Given the description of an element on the screen output the (x, y) to click on. 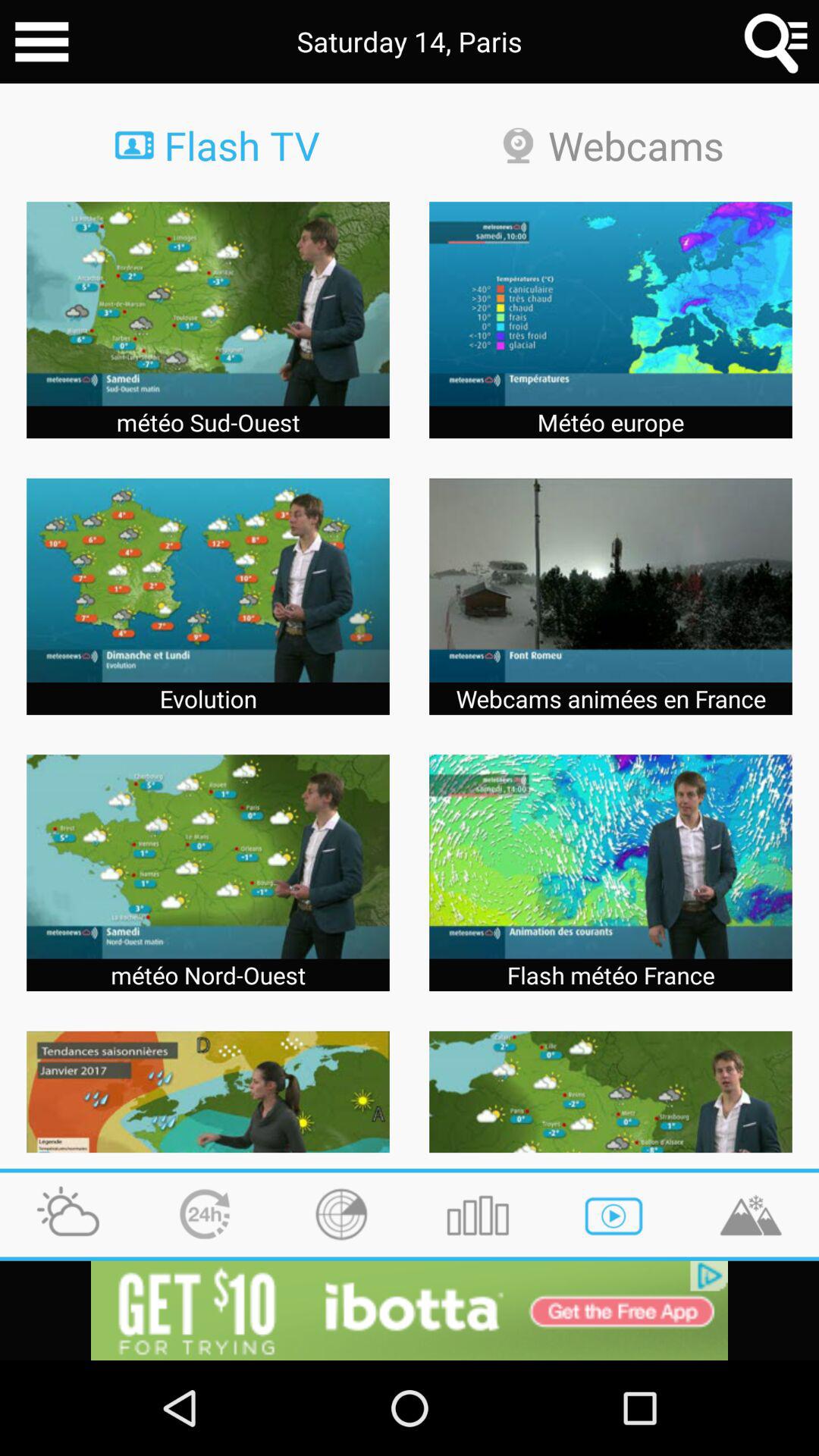
select advertisement (409, 1310)
